Given the description of an element on the screen output the (x, y) to click on. 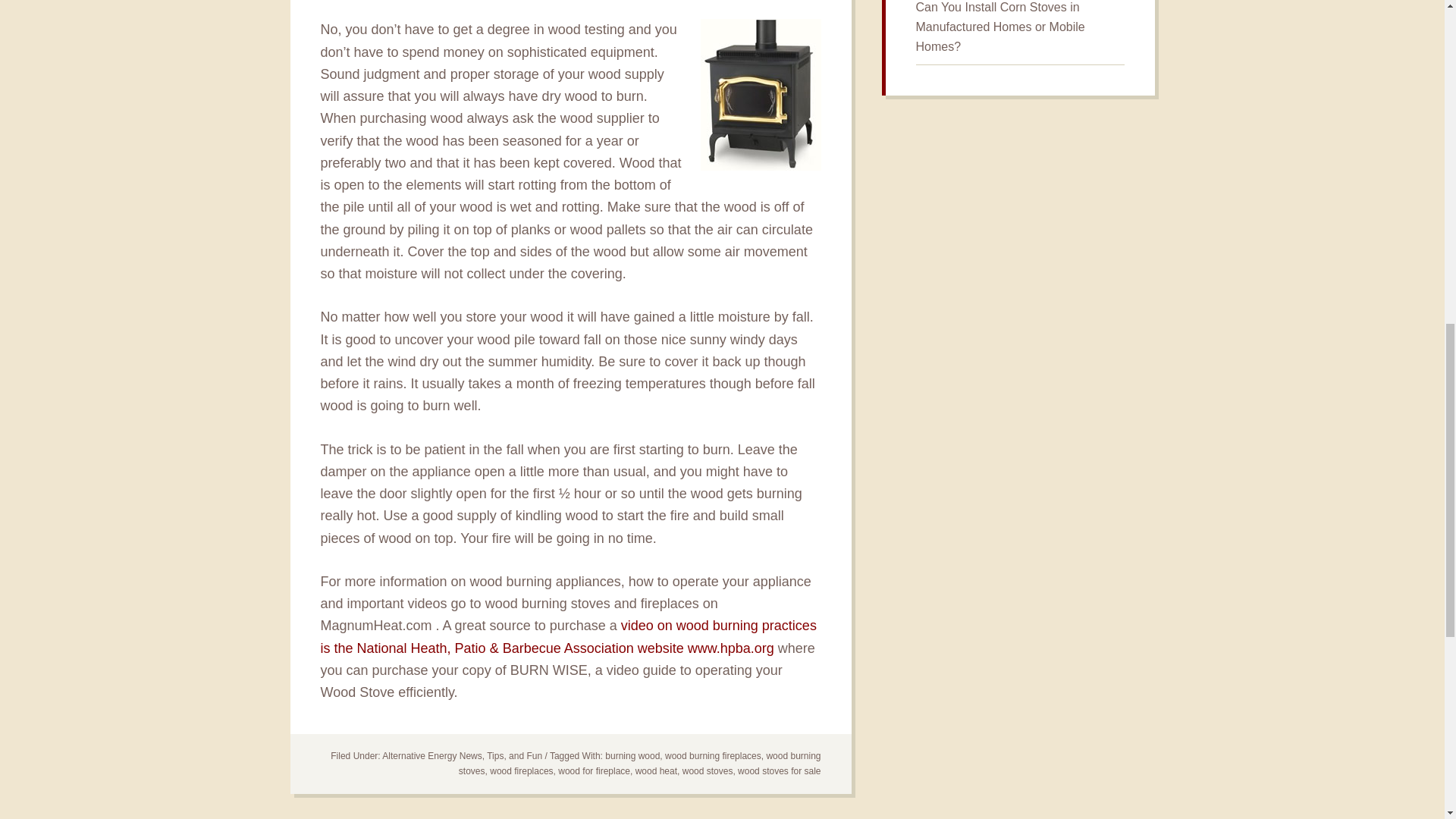
burning wood (632, 756)
wood stoves (707, 770)
wood burning fireplaces (713, 756)
wood fireplaces (521, 770)
Alternative Energy News, Tips, and Fun (461, 756)
wood stoves for sale (779, 770)
wood burning stoves (639, 763)
wood for fireplace (593, 770)
wood heat (655, 770)
